Given the description of an element on the screen output the (x, y) to click on. 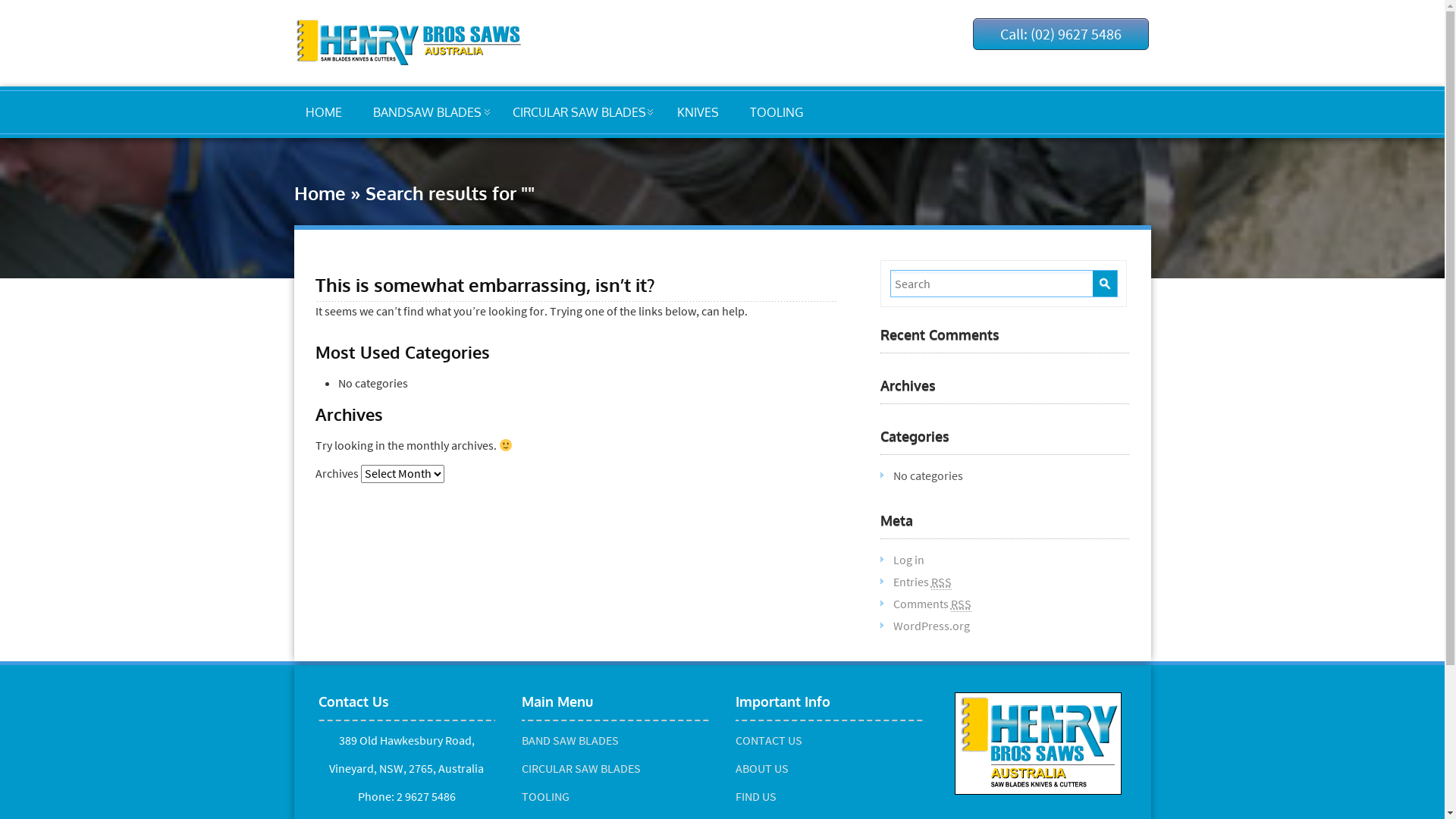
ABOUT US Element type: text (761, 767)
BAND SAW BLADES Element type: text (569, 739)
CIRCULAR SAW BLADES Element type: text (580, 767)
Comments RSS Element type: text (932, 603)
CIRCULAR SAW BLADES Element type: text (579, 111)
Call: (02) 9627 5486 Element type: text (1060, 34)
TOOLING Element type: text (775, 111)
WordPress.org Element type: text (931, 625)
Log in Element type: text (908, 559)
TOOLING Element type: text (545, 795)
BANDSAW BLADES Element type: text (426, 111)
CONTACT US Element type: text (768, 739)
Home Element type: text (319, 192)
FIND US Element type: text (755, 795)
KNIVES Element type: text (697, 111)
Entries RSS Element type: text (922, 581)
HOME Element type: text (322, 111)
